Given the description of an element on the screen output the (x, y) to click on. 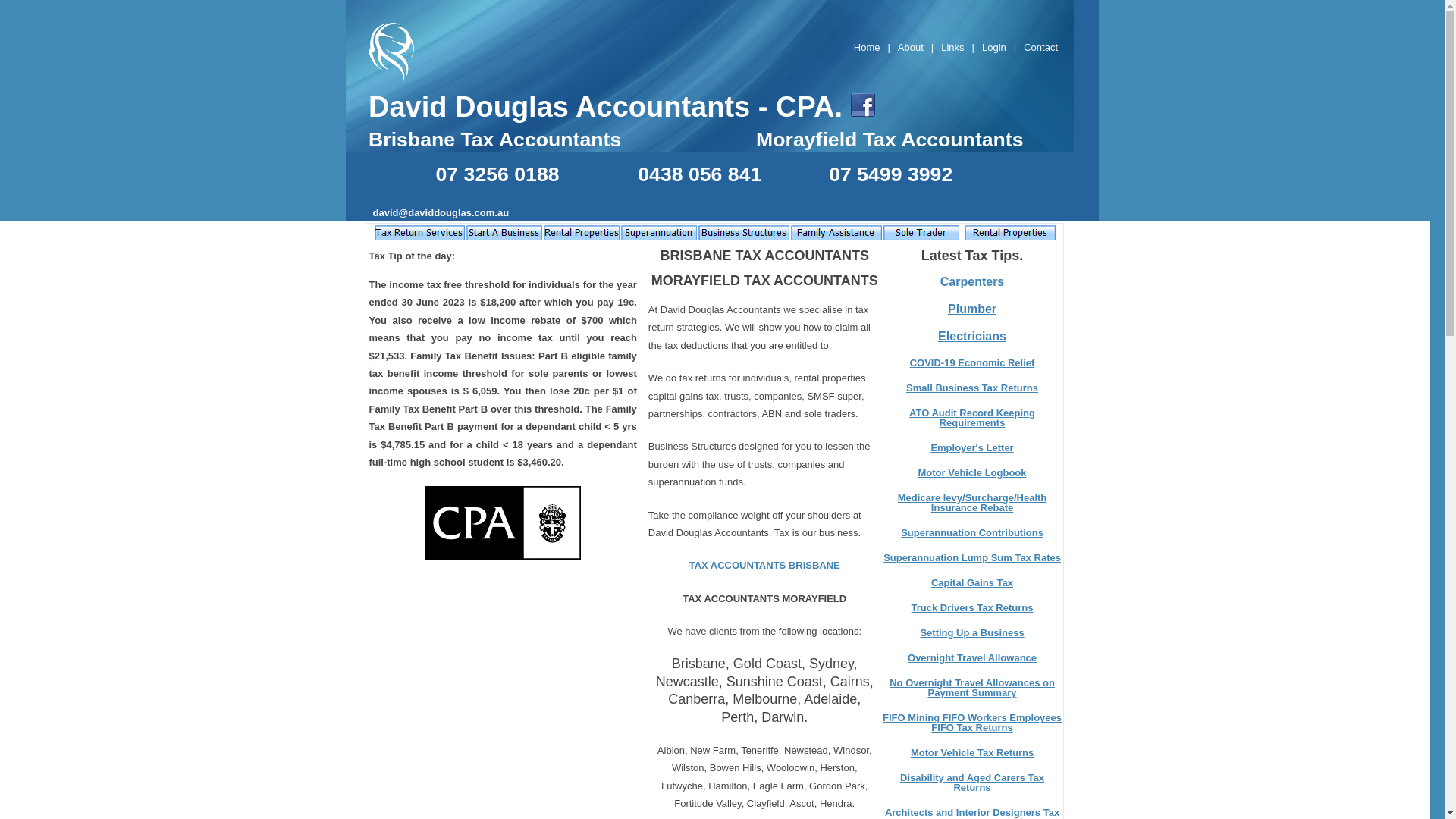
Medicare levy/Surcharge/Health Insurance Rebate Element type: text (972, 502)
Capital Gains Tax Element type: text (972, 582)
Links Element type: text (952, 47)
Truck Drivers Tax Returns Element type: text (972, 607)
No Overnight Travel Allowances on Payment Summary Element type: text (971, 687)
Employer's Letter Element type: text (971, 447)
TAX ACCOUNTANTS BRISBANE Element type: text (764, 565)
ATO Audit Record Keeping Requirements Element type: text (972, 417)
Disability and Aged Carers Tax Returns Element type: text (972, 782)
Login Element type: text (993, 47)
About Element type: text (910, 47)
Contact Element type: text (1040, 47)
Overnight Travel Allowance Element type: text (971, 657)
Home Element type: text (867, 47)
Small Business Tax Returns Element type: text (972, 387)
Setting Up a Business Element type: text (971, 632)
David Douglas Accountants Element type: text (558, 106)
Plumber Element type: text (971, 308)
FIFO Mining FIFO Workers Employees FIFO Tax Returns Element type: text (971, 722)
Superannuation Contributions Element type: text (971, 532)
Superannuation Lump Sum Tax Rates Element type: text (971, 557)
Electricians Element type: text (972, 335)
Carpenters Element type: text (972, 281)
Motor Vehicle Tax Returns Element type: text (971, 752)
Motor Vehicle Logbook Element type: text (972, 472)
COVID-19 Economic Relief Element type: text (972, 362)
